Given the description of an element on the screen output the (x, y) to click on. 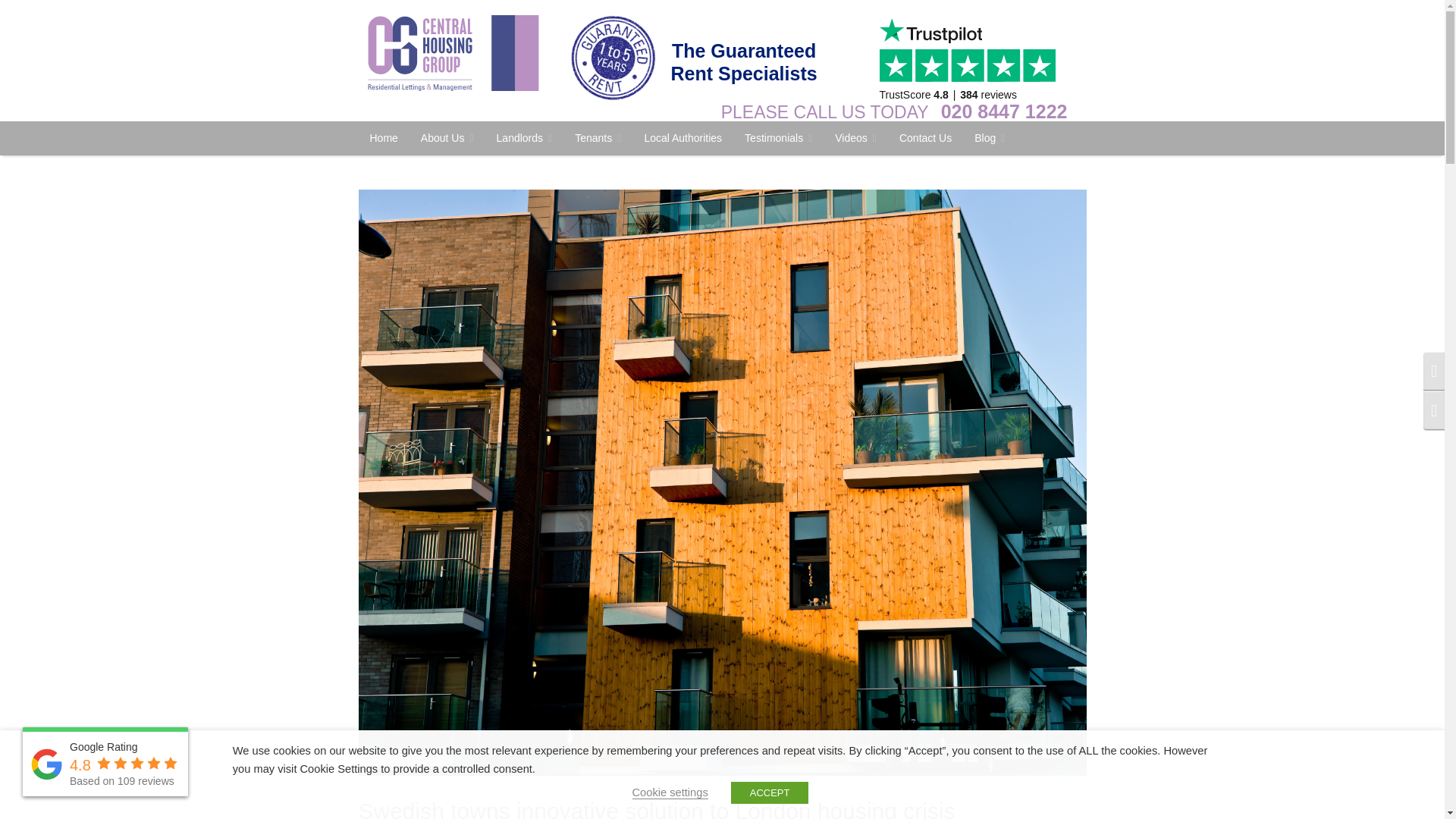
Customer reviews powered by Trustpilot (972, 58)
